Given the description of an element on the screen output the (x, y) to click on. 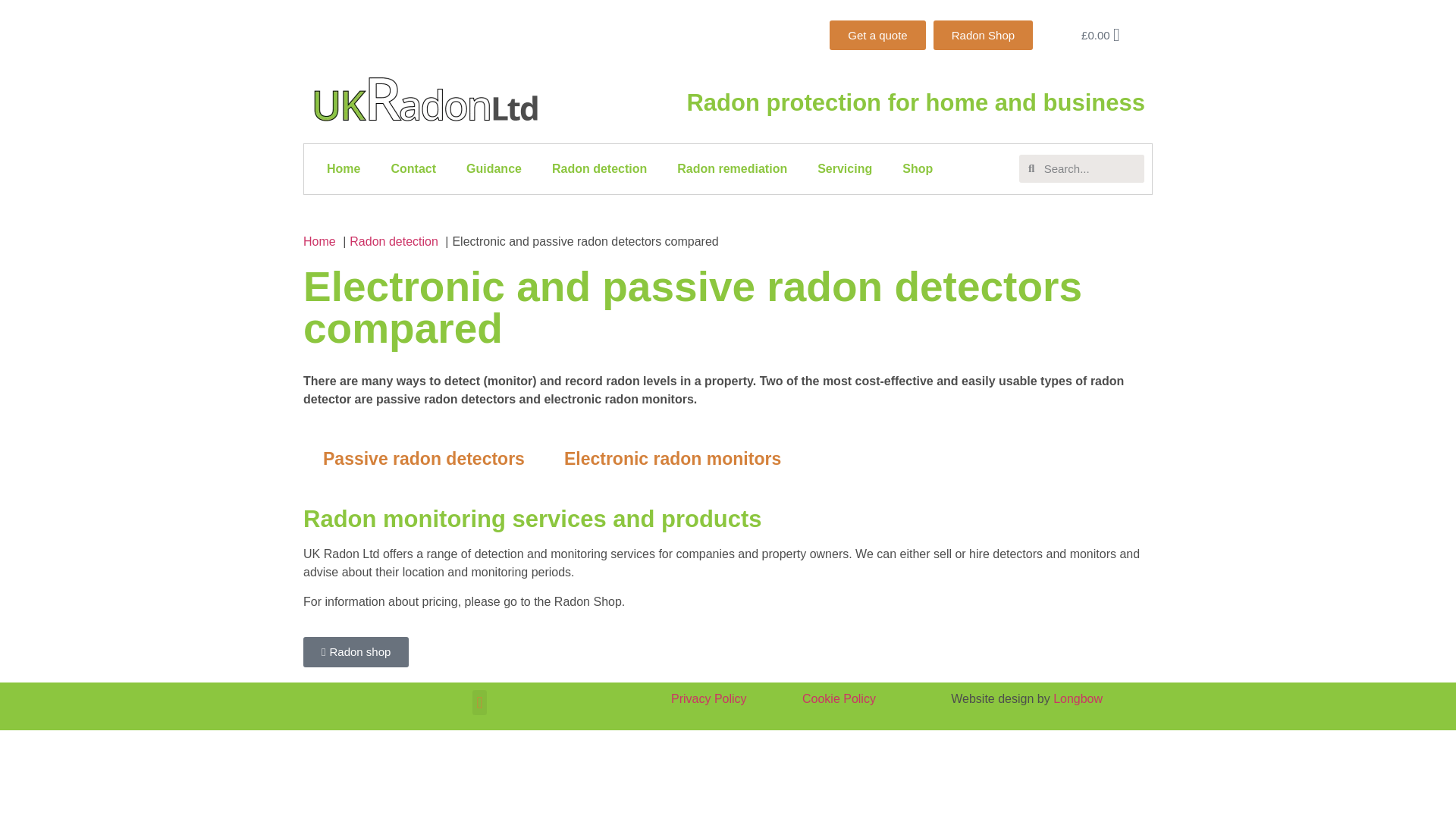
Get a quote (876, 34)
Cookie Policy  (839, 698)
Servicing (844, 168)
Home (343, 168)
Radon Shop (982, 34)
Contact (413, 168)
Guidance (494, 168)
Radon detection (599, 168)
Shop (916, 168)
Radon remediation (732, 168)
